Given the description of an element on the screen output the (x, y) to click on. 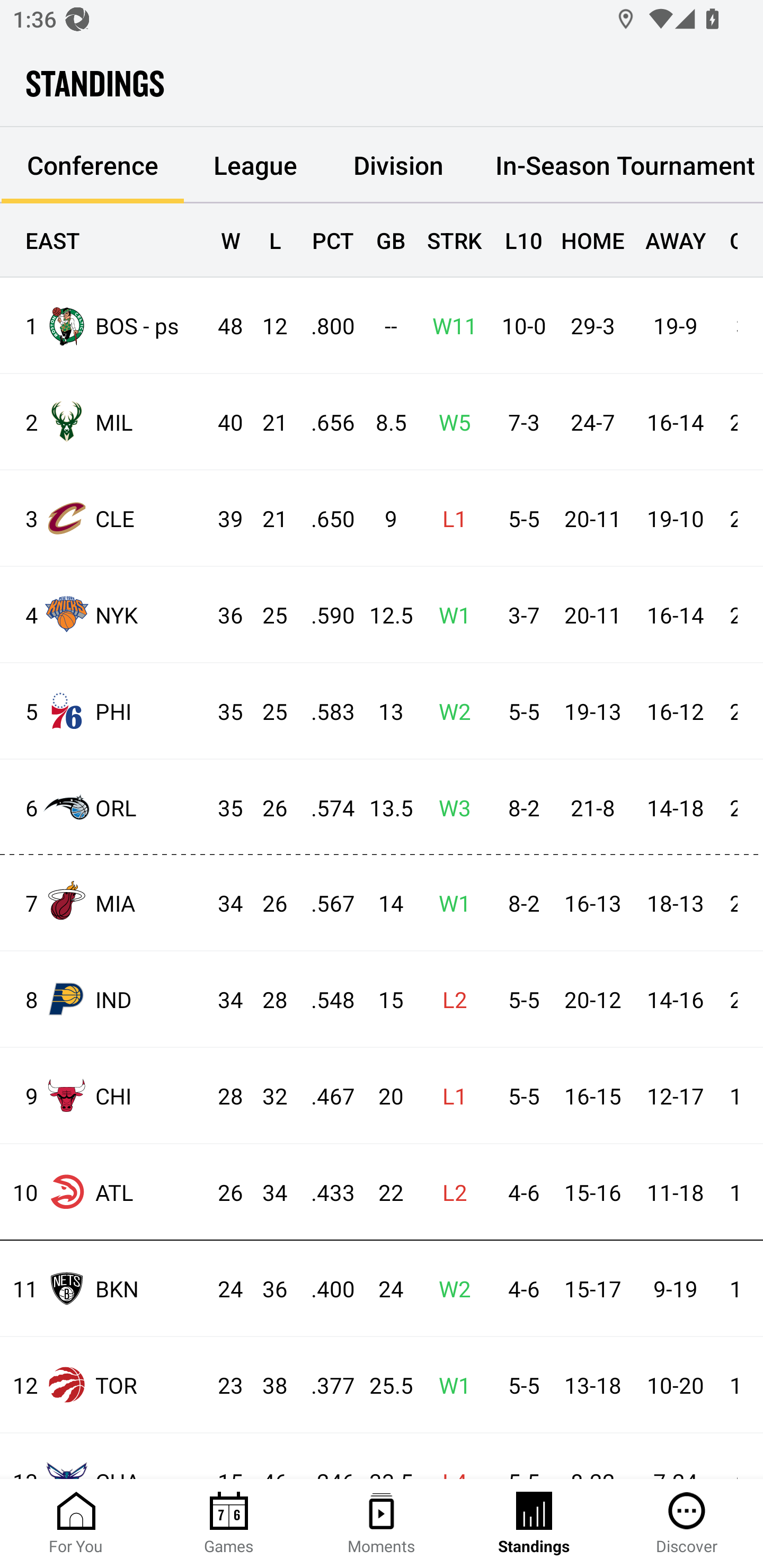
League (254, 165)
Division (398, 165)
In-Season Tournament (616, 165)
1 BOS - ps (104, 325)
2 MIL (104, 421)
3 CLE (104, 518)
4 NYK (104, 613)
5 PHI (104, 710)
6 ORL (104, 806)
7 MIA (104, 902)
8 IND (104, 999)
9 CHI (104, 1095)
10 ATL (104, 1192)
11 BKN (104, 1287)
12 TOR (104, 1385)
For You (76, 1523)
Games (228, 1523)
Moments (381, 1523)
Discover (686, 1523)
